Given the description of an element on the screen output the (x, y) to click on. 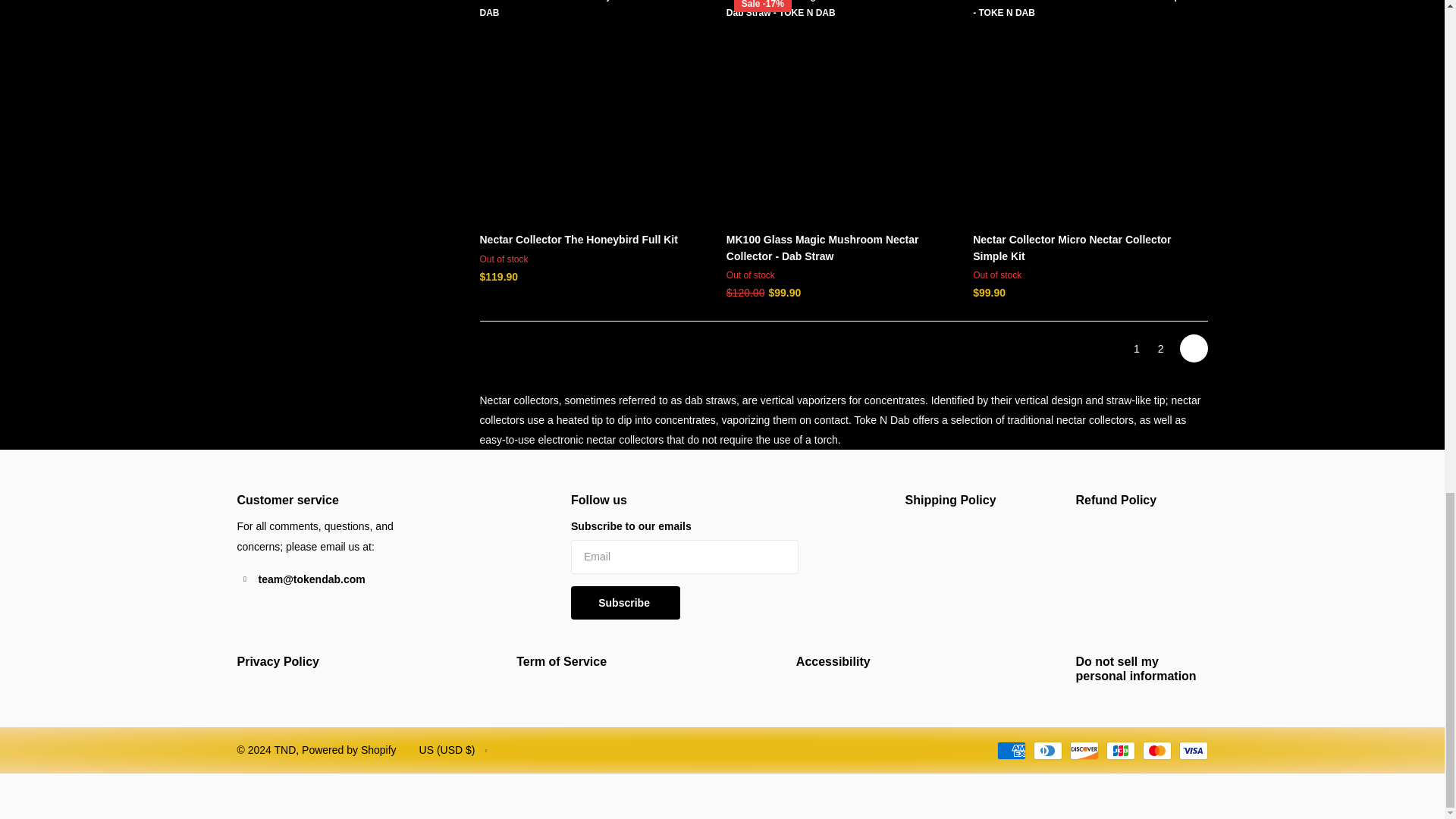
Diners Club (1046, 751)
Discover (1082, 751)
JCB (1119, 751)
Visa (1192, 751)
Mastercard (1155, 751)
American Express (1010, 751)
